Given the description of an element on the screen output the (x, y) to click on. 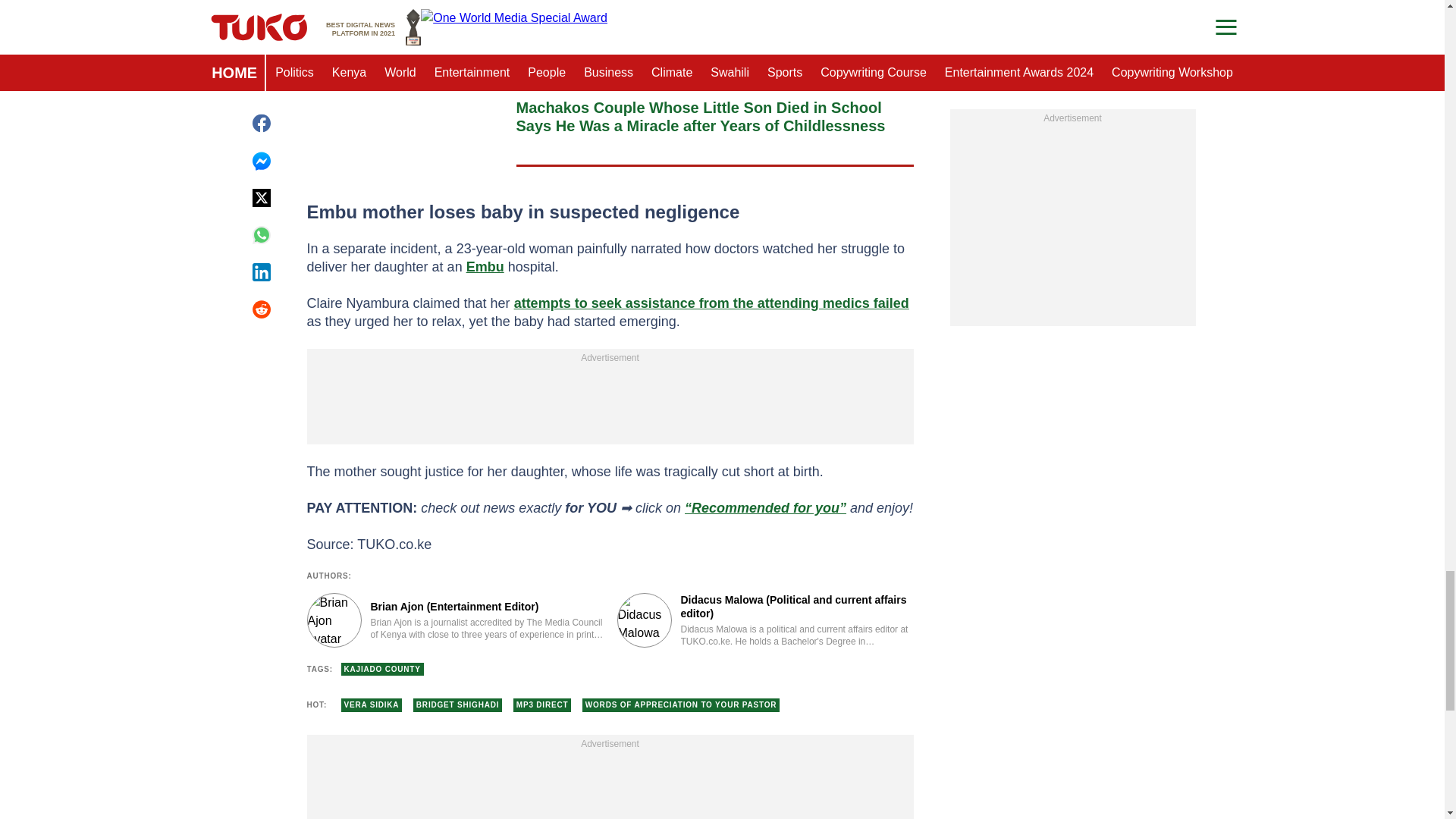
Author page (765, 619)
Author page (453, 619)
